Given the description of an element on the screen output the (x, y) to click on. 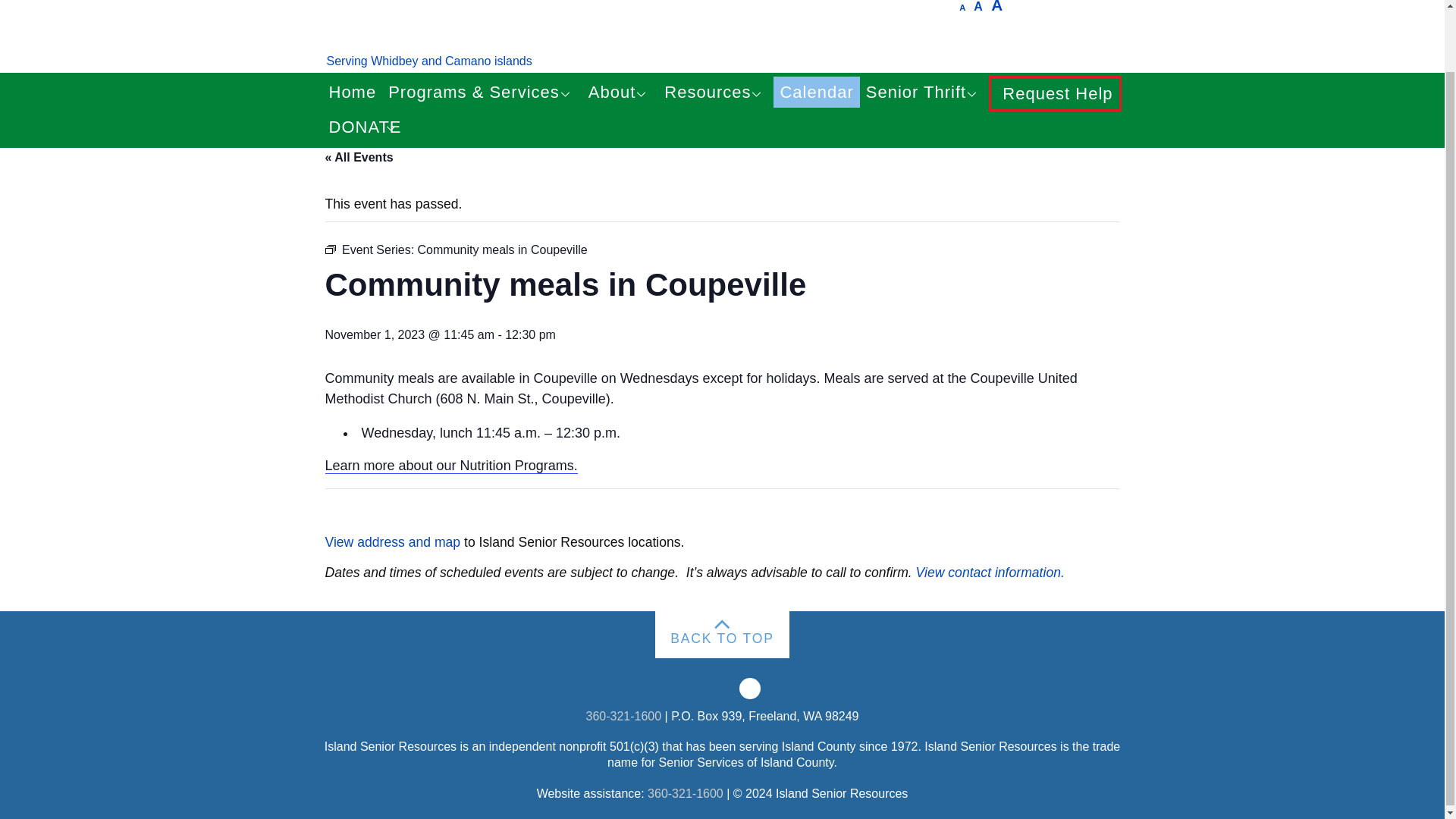
Home (352, 91)
About (620, 92)
Event Series (329, 248)
Serving Whidbey and Camano islands (428, 60)
